Given the description of an element on the screen output the (x, y) to click on. 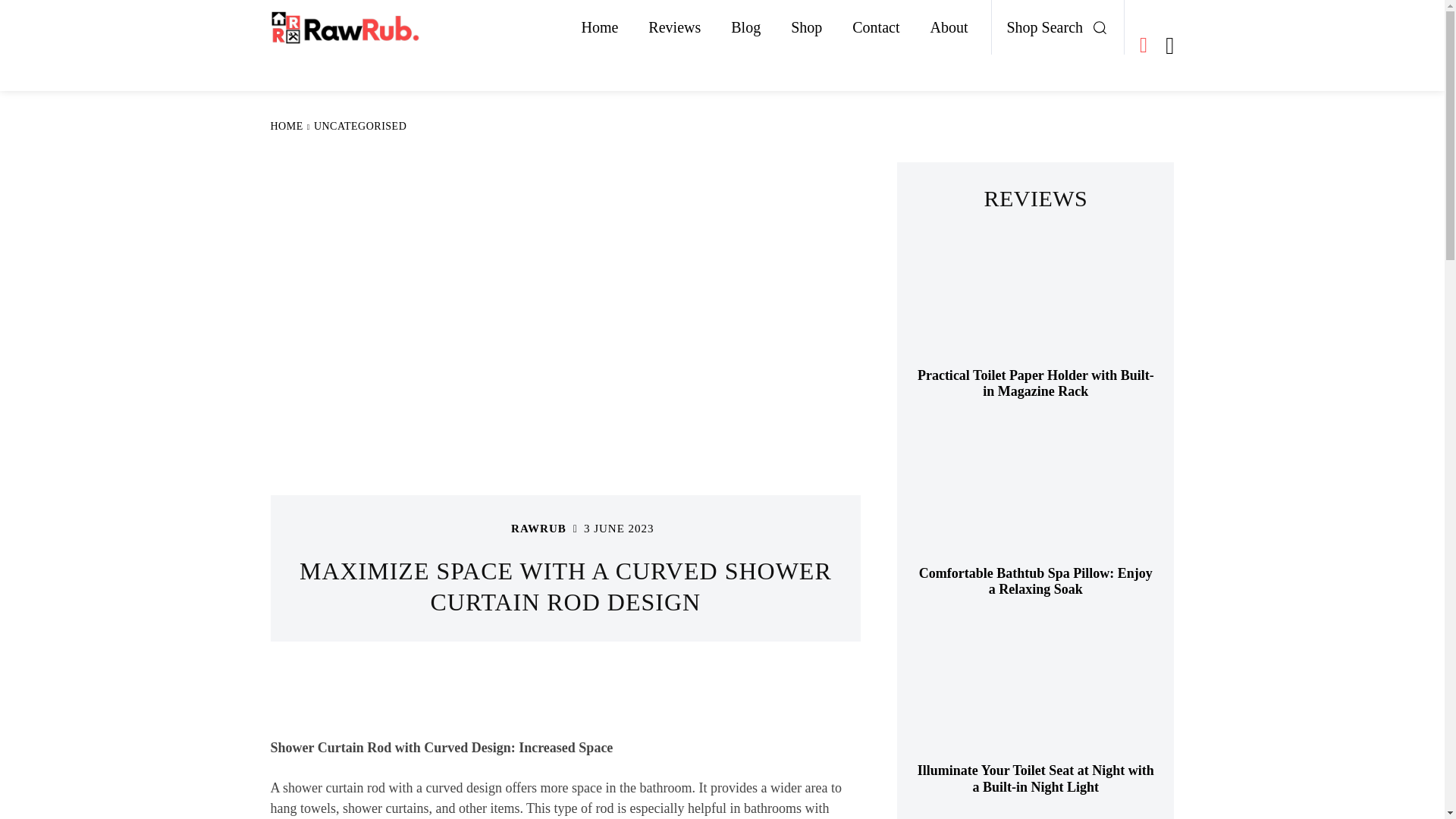
Home (599, 27)
Blog (746, 27)
Shop (806, 27)
About (948, 27)
Reviews (674, 27)
View all posts in Uncategorised (360, 125)
Rawrub (491, 528)
Shop Search (1061, 27)
Contact (875, 27)
